Given the description of an element on the screen output the (x, y) to click on. 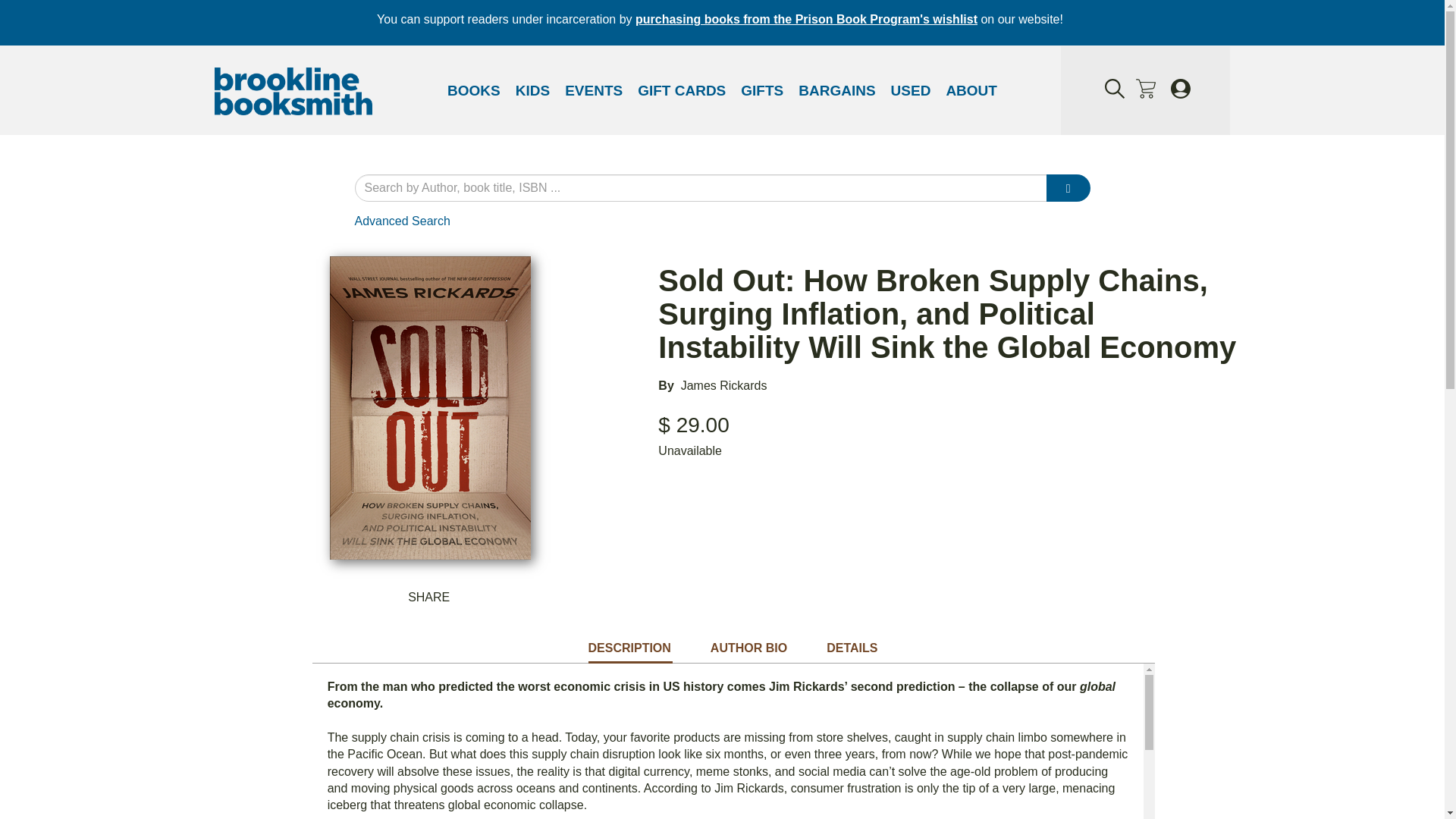
EVENTS (593, 90)
Home (292, 93)
purchasing books from the Prison Book Program's wishlist (805, 19)
KIDS (532, 90)
BOOKS (473, 90)
